Given the description of an element on the screen output the (x, y) to click on. 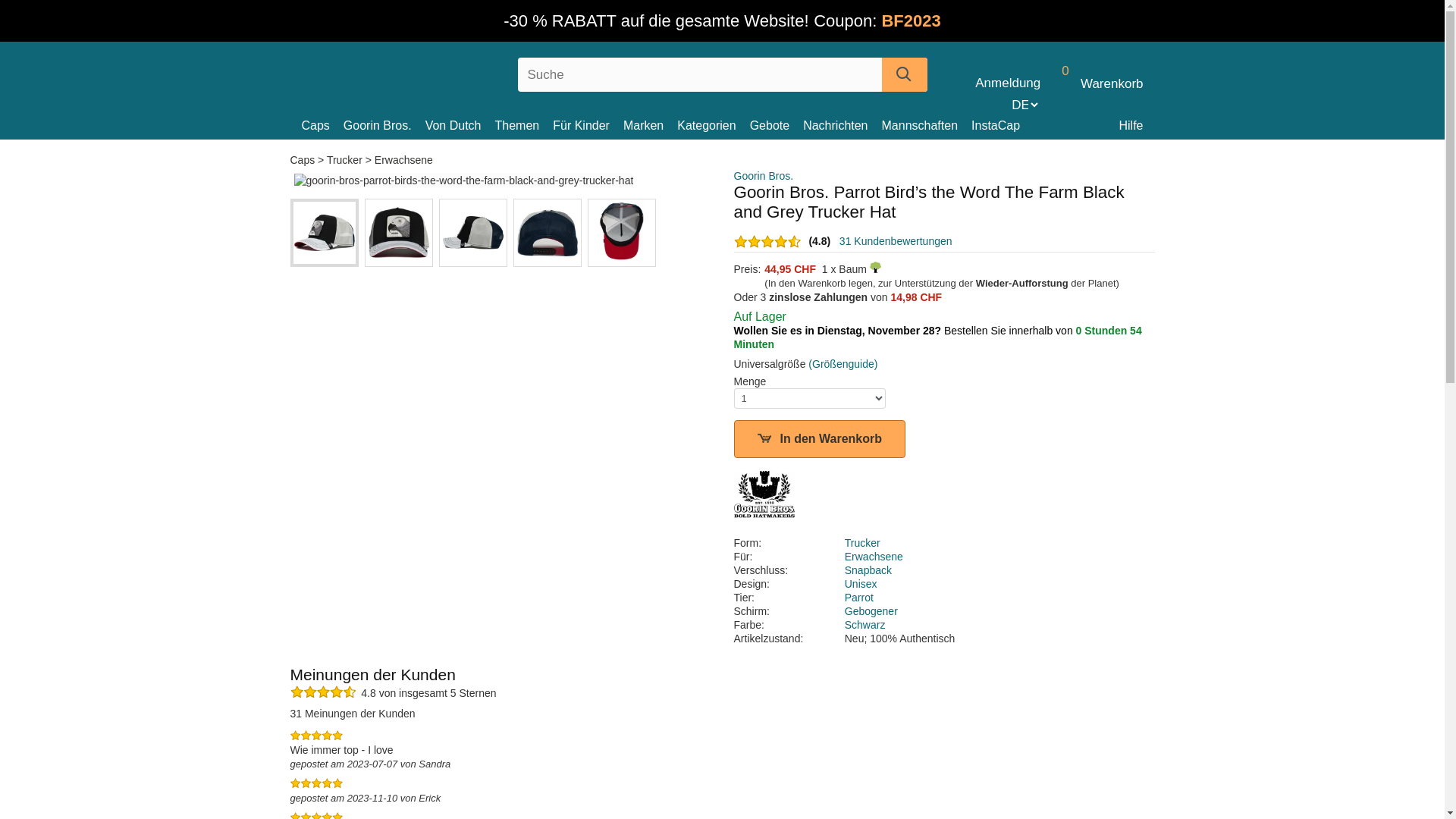
Search Element type: hover (903, 74)
Trucker Element type: text (862, 542)
Hilfe Element type: text (1130, 125)
Mannschaften Element type: text (926, 125)
Caps Element type: text (303, 159)
Parrot Element type: text (858, 597)
Schwarz Element type: text (864, 624)
Goorin Bros. Element type: text (384, 125)
In den Warenkorb Element type: text (820, 439)
Caps Element type: text (322, 125)
Themen Element type: text (523, 125)
Erwachsene Element type: text (403, 159)
31 Kundenbewertungen Element type: text (895, 241)
Kategorien Element type: text (713, 125)
Von Dutch Element type: text (460, 125)
Marken Element type: text (650, 125)
Unisex Element type: text (860, 583)
Caphunters Element type: hover (398, 71)
Anmeldung Element type: text (1007, 83)
Goorin Bros. Element type: text (763, 175)
Gebogener Element type: text (870, 611)
Gebote Element type: text (776, 125)
0
Warenkorb Element type: text (1095, 83)
InstaCap Element type: text (1002, 125)
Erwachsene Element type: text (873, 556)
Trucker Element type: text (344, 159)
Nachrichten Element type: text (842, 125)
Snapback Element type: text (867, 570)
